Given the description of an element on the screen output the (x, y) to click on. 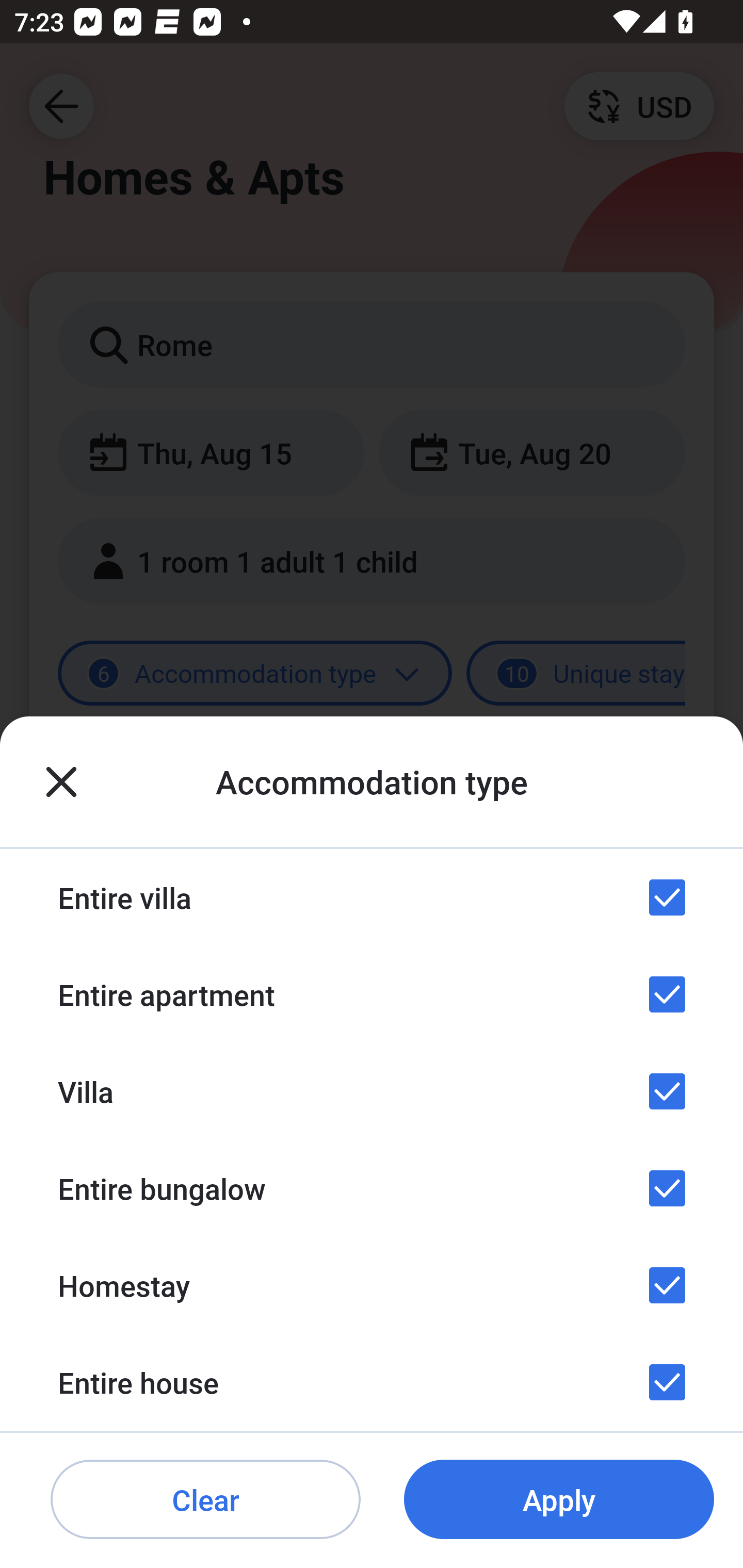
Entire villa (371, 897)
Entire apartment (371, 994)
Villa (371, 1091)
Entire bungalow (371, 1188)
Homestay (371, 1284)
Entire house (371, 1382)
Clear (205, 1499)
Apply (559, 1499)
